Given the description of an element on the screen output the (x, y) to click on. 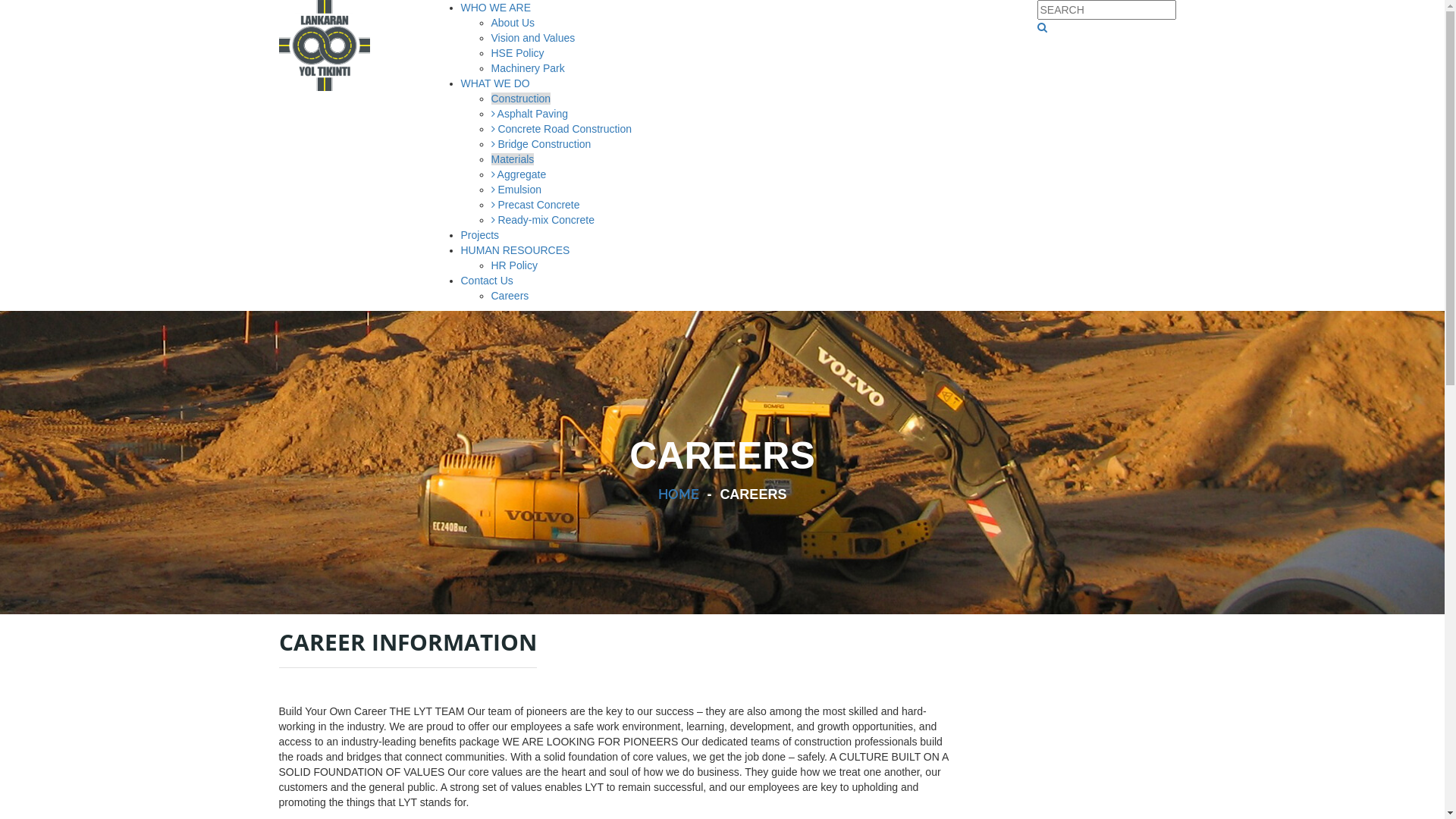
About Us Element type: text (513, 22)
HR Policy Element type: text (514, 265)
Bridge Construction Element type: text (541, 144)
Concrete Road Construction Element type: text (561, 128)
Materials Element type: text (512, 159)
Precast Concrete Element type: text (535, 204)
Contact Us Element type: text (487, 280)
Aggregate Element type: text (518, 174)
Asphalt Paving Element type: text (529, 113)
HUMAN RESOURCES Element type: text (515, 250)
Vision and Values Element type: text (533, 37)
HOME Element type: text (678, 494)
WHO WE ARE Element type: text (496, 7)
Construction Element type: text (521, 98)
Emulsion Element type: text (516, 189)
Projects Element type: text (480, 235)
HSE Policy Element type: text (517, 53)
Careers Element type: text (510, 295)
WHAT WE DO Element type: text (495, 83)
Ready-mix Concrete Element type: text (543, 219)
Machinery Park Element type: text (527, 68)
